Given the description of an element on the screen output the (x, y) to click on. 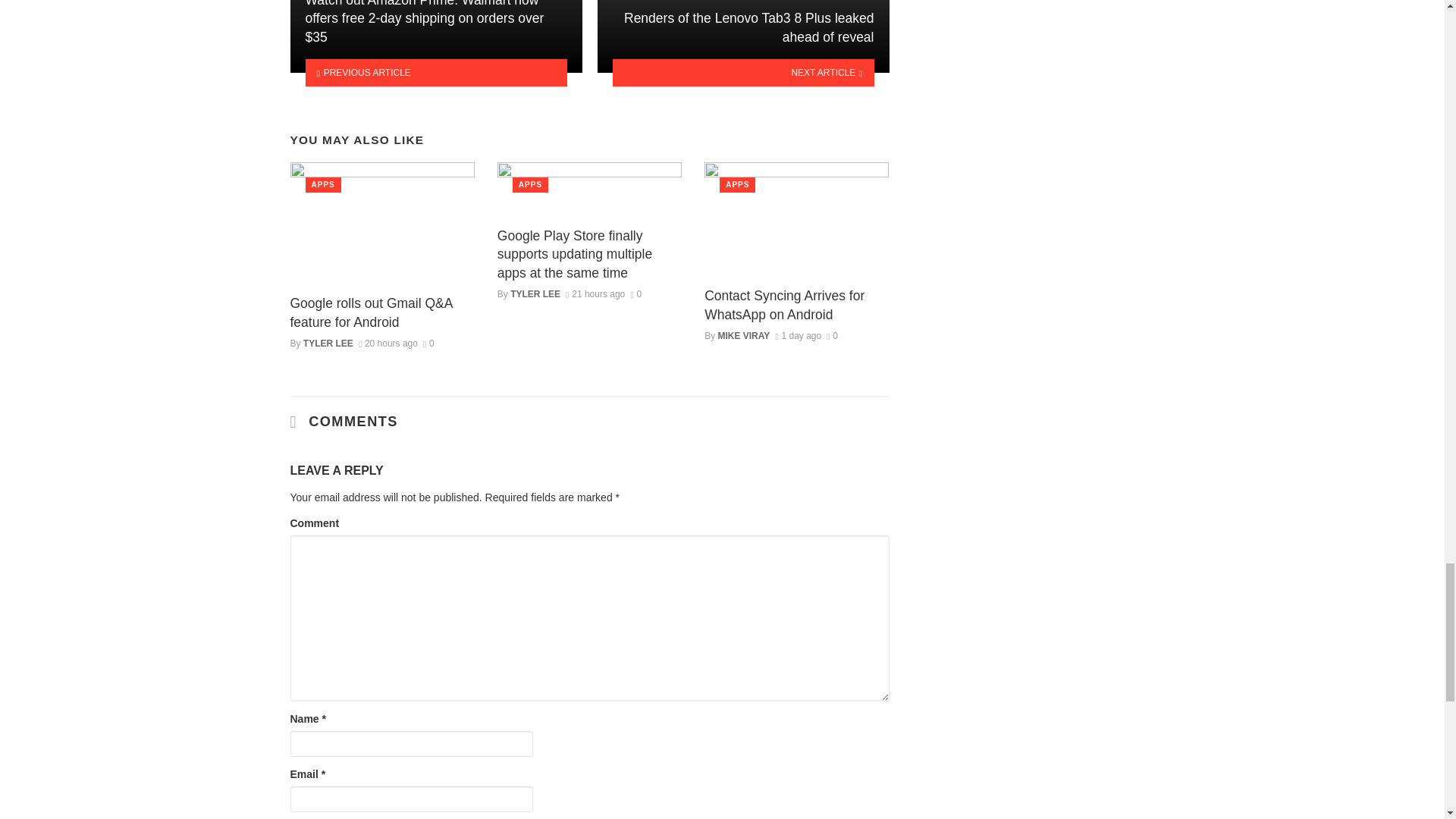
0 Comments (832, 335)
0 Comments (428, 343)
August 30, 2024 at 6:43 am (387, 343)
0 Comments (636, 294)
August 29, 2024 at 5:26 pm (797, 335)
August 30, 2024 at 5:20 am (595, 294)
